Given the description of an element on the screen output the (x, y) to click on. 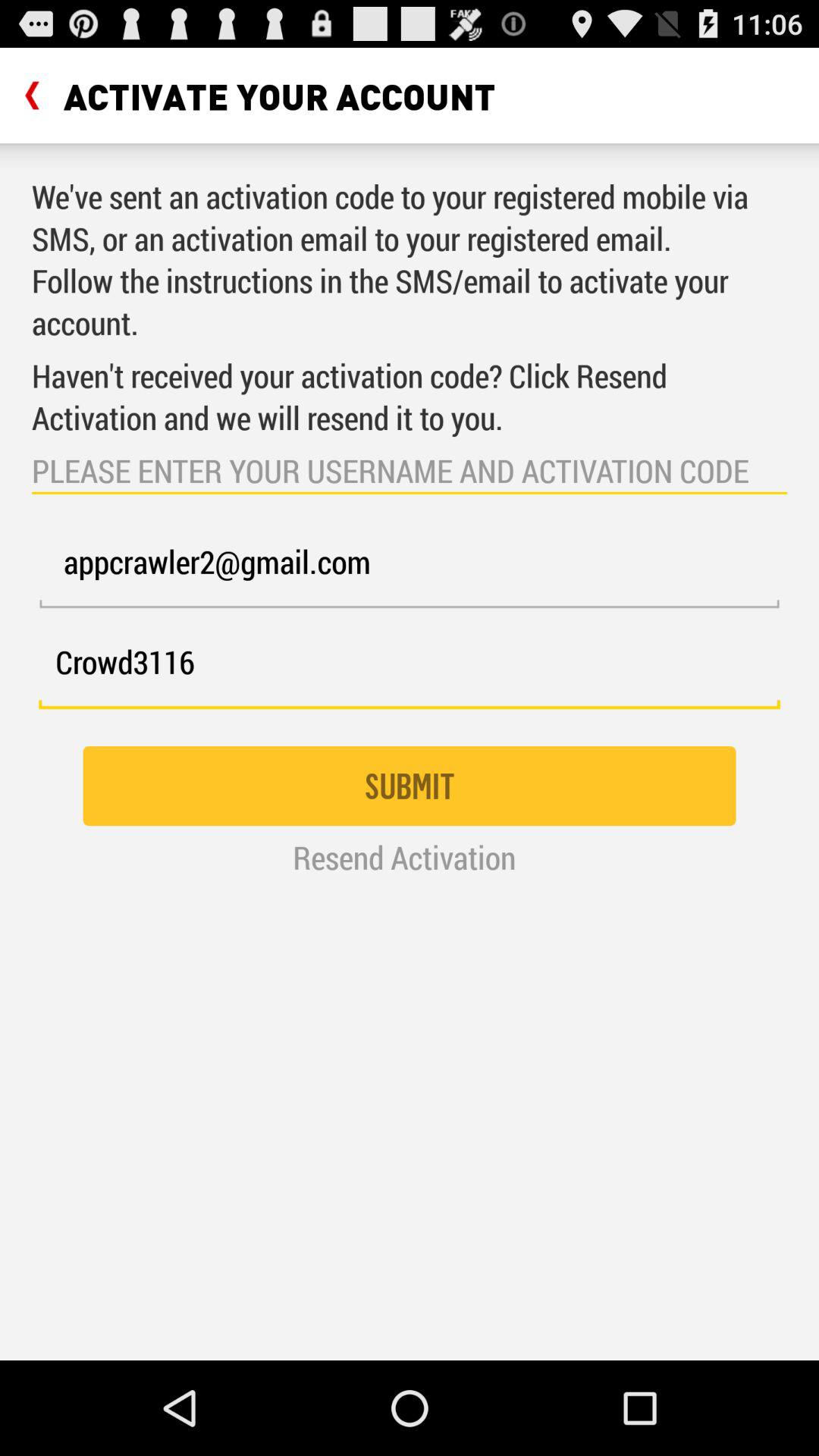
click the appcrawler2@gmail.com icon (409, 570)
